Given the description of an element on the screen output the (x, y) to click on. 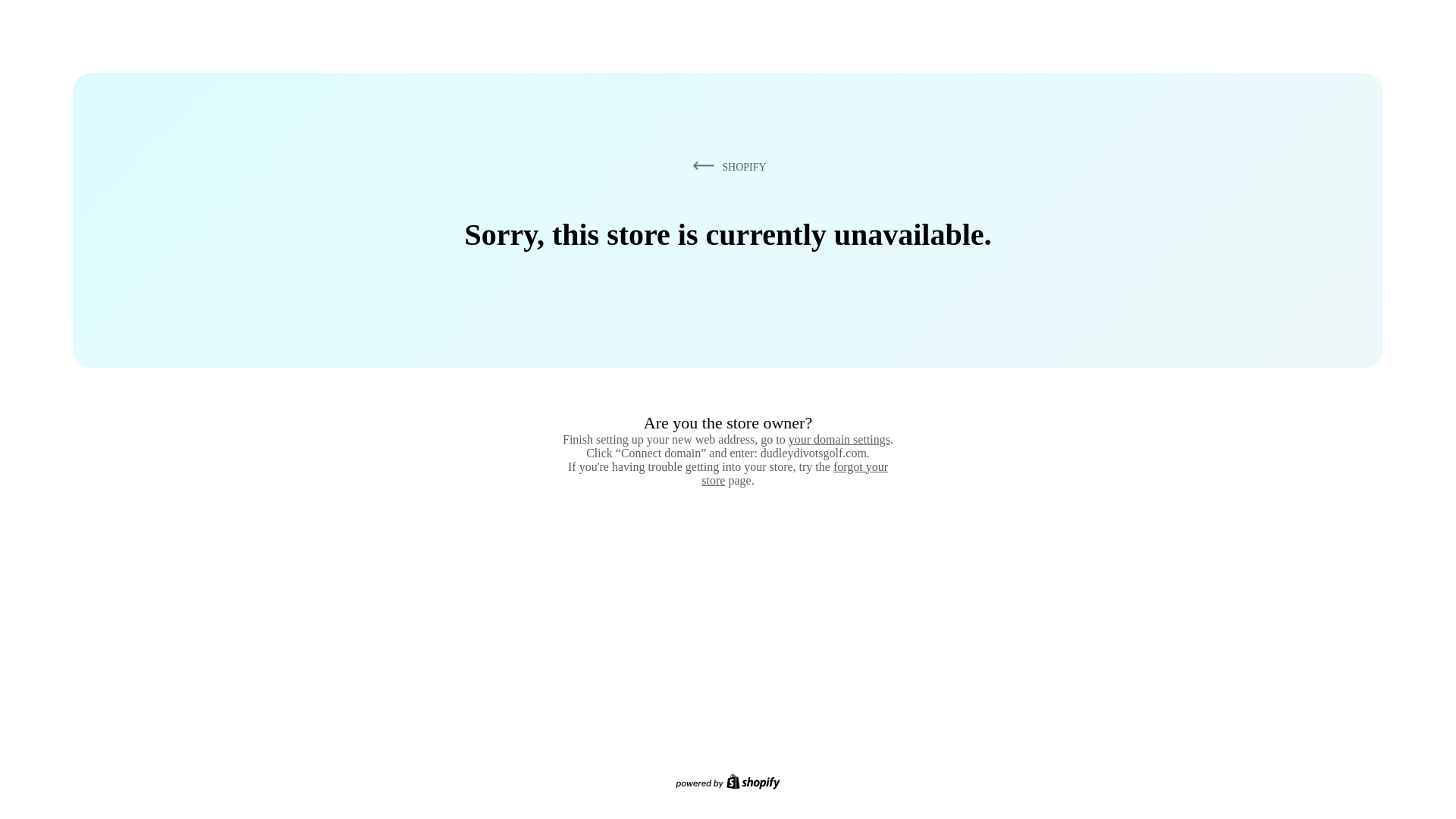
forgot your store (794, 473)
SHOPIFY (726, 166)
your domain settings (839, 439)
